Given the description of an element on the screen output the (x, y) to click on. 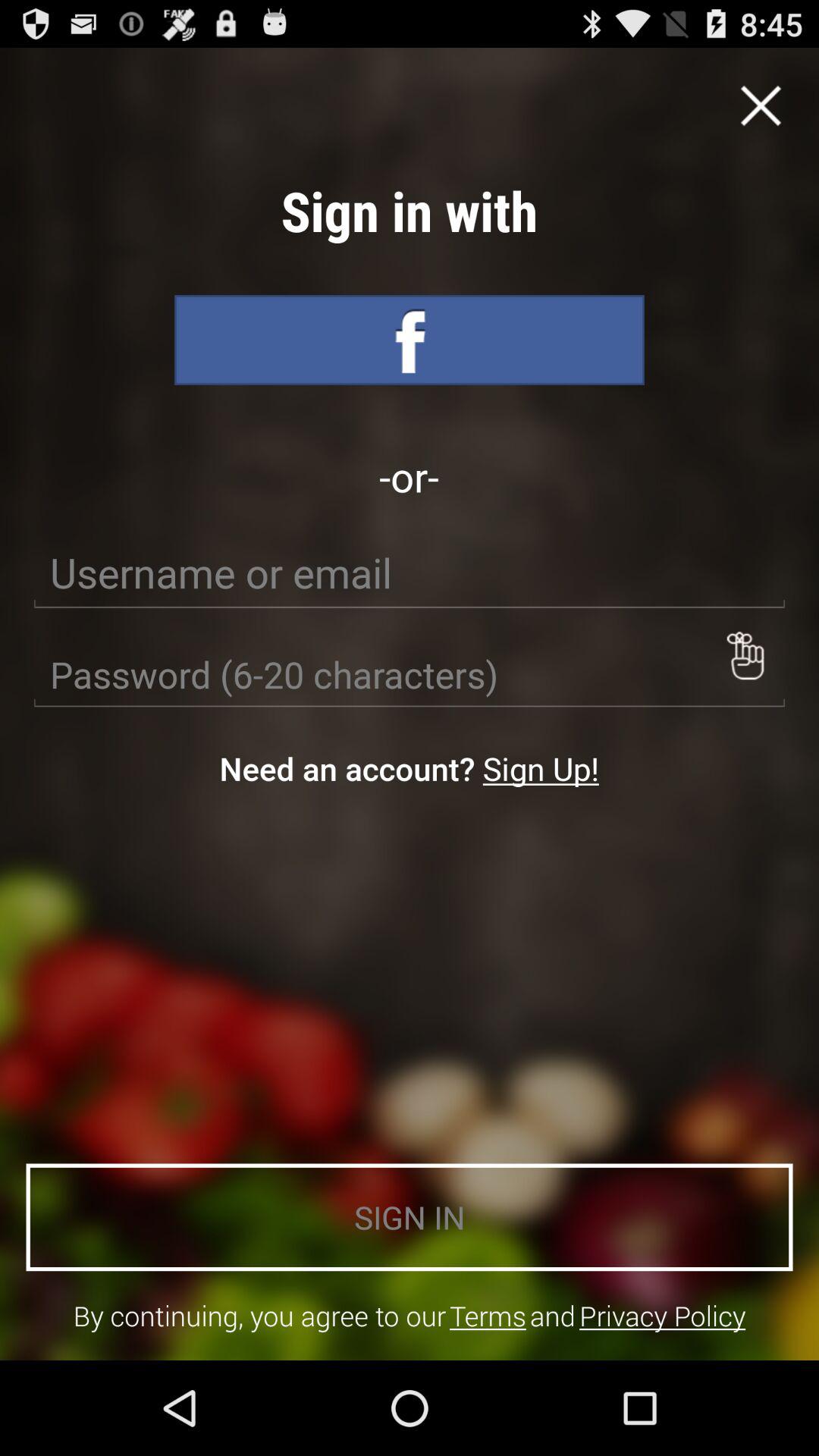
choose icon below sign in (487, 1315)
